Given the description of an element on the screen output the (x, y) to click on. 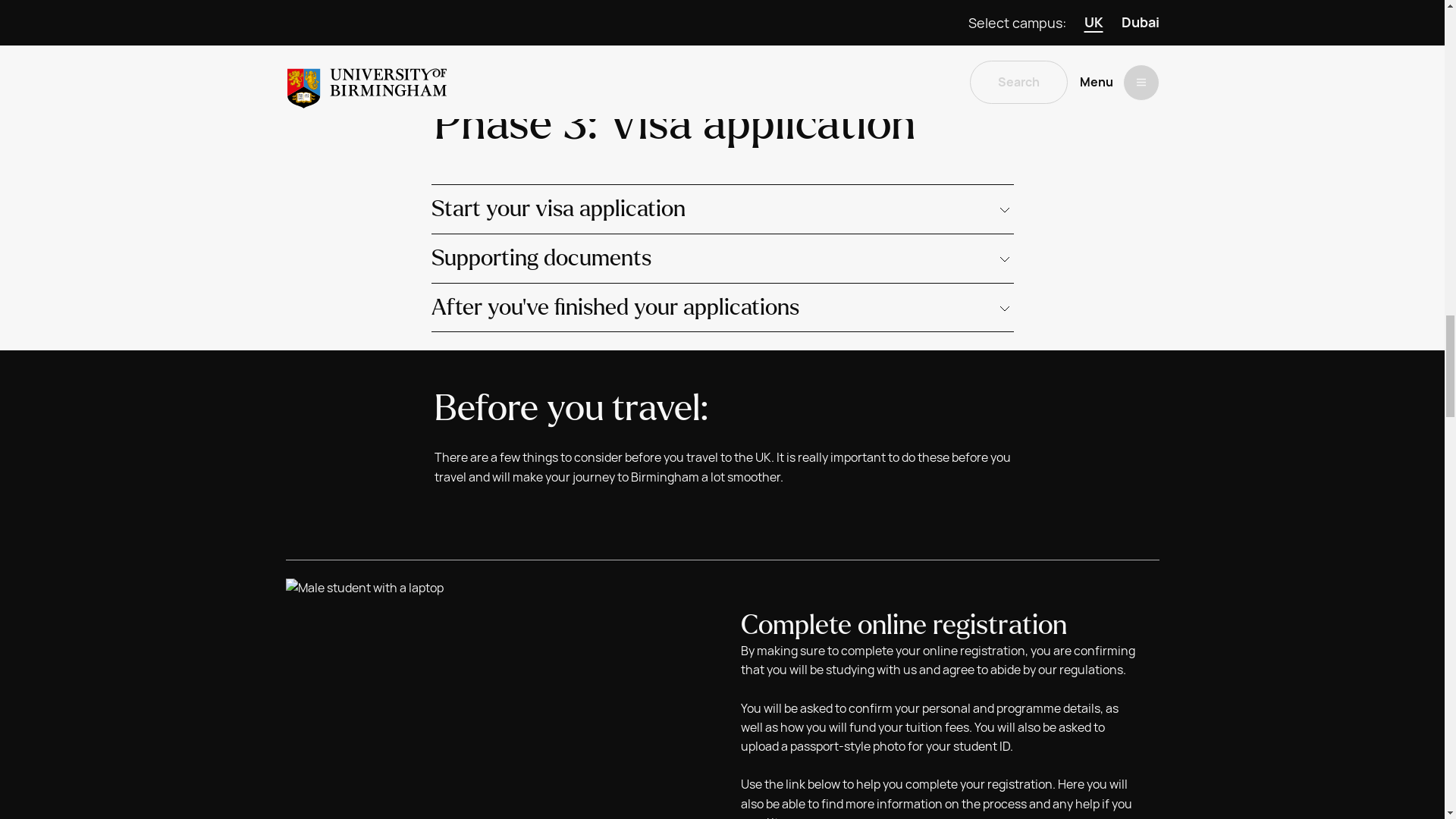
Apply for accommodation (395, 5)
